Given the description of an element on the screen output the (x, y) to click on. 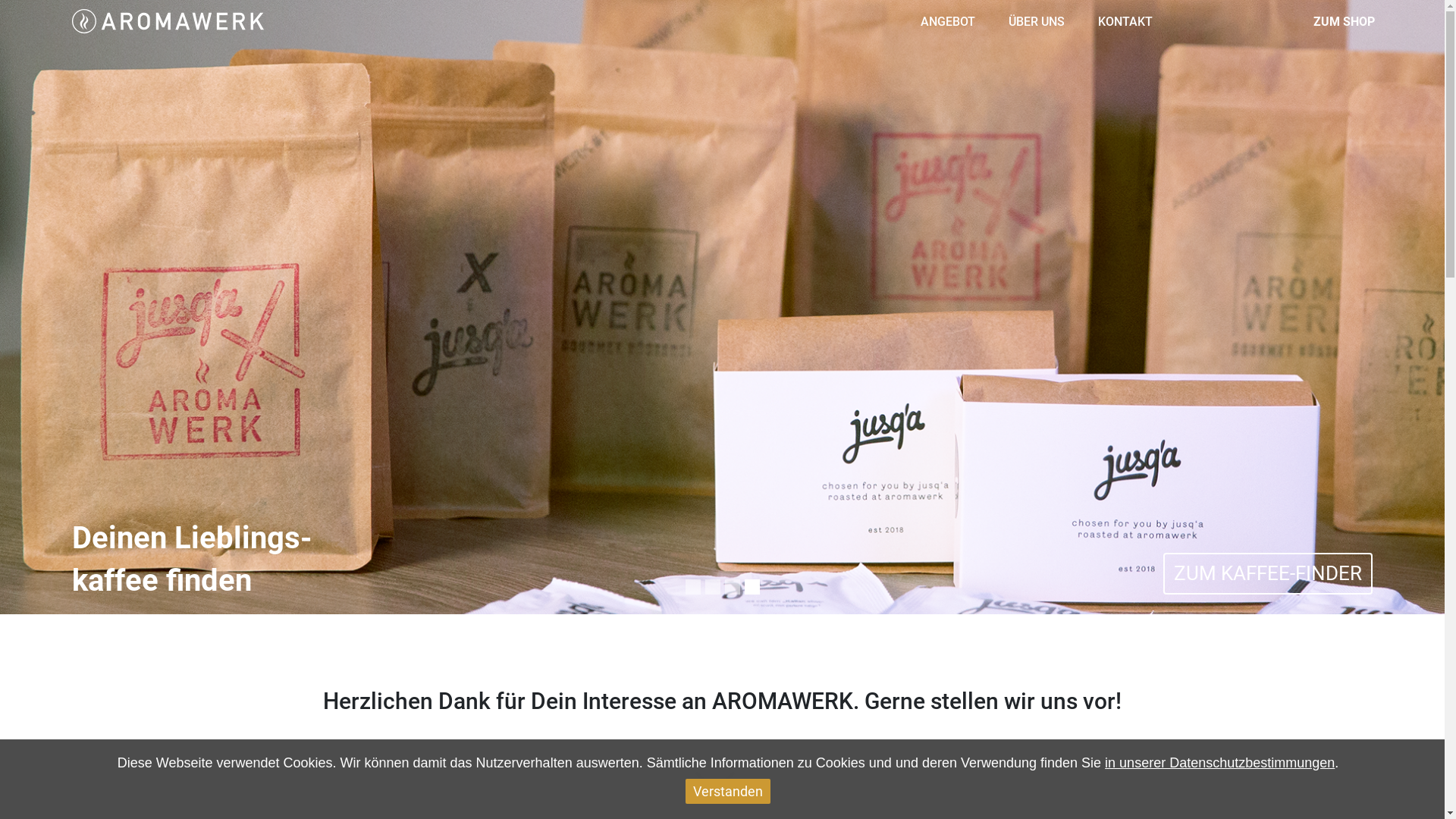
ZU UNSEREN VERANSTALTUNGEN Element type: text (1207, 573)
KONTAKT Element type: text (1117, 21)
Verstanden Element type: text (727, 790)
ANGEBOT Element type: text (949, 21)
ZUM SHOP Element type: text (1344, 21)
in unserer Datenschutzbestimmungen Element type: text (1219, 762)
